Given the description of an element on the screen output the (x, y) to click on. 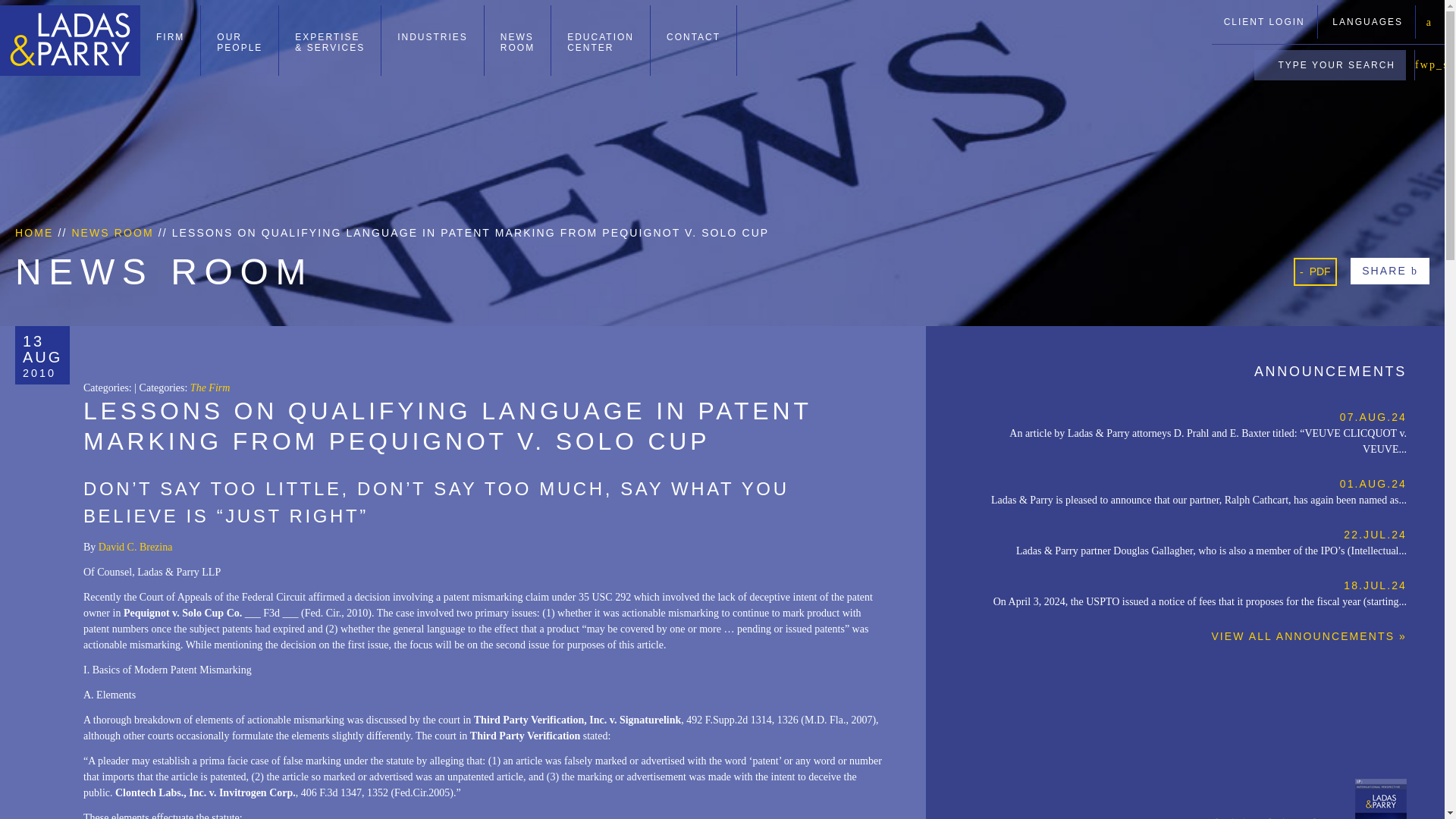
LANGUAGES (1366, 21)
CLIENT LOGIN (240, 40)
David C. Brezina (600, 40)
CONTACT (1264, 21)
INDUSTRIES (136, 546)
